Given the description of an element on the screen output the (x, y) to click on. 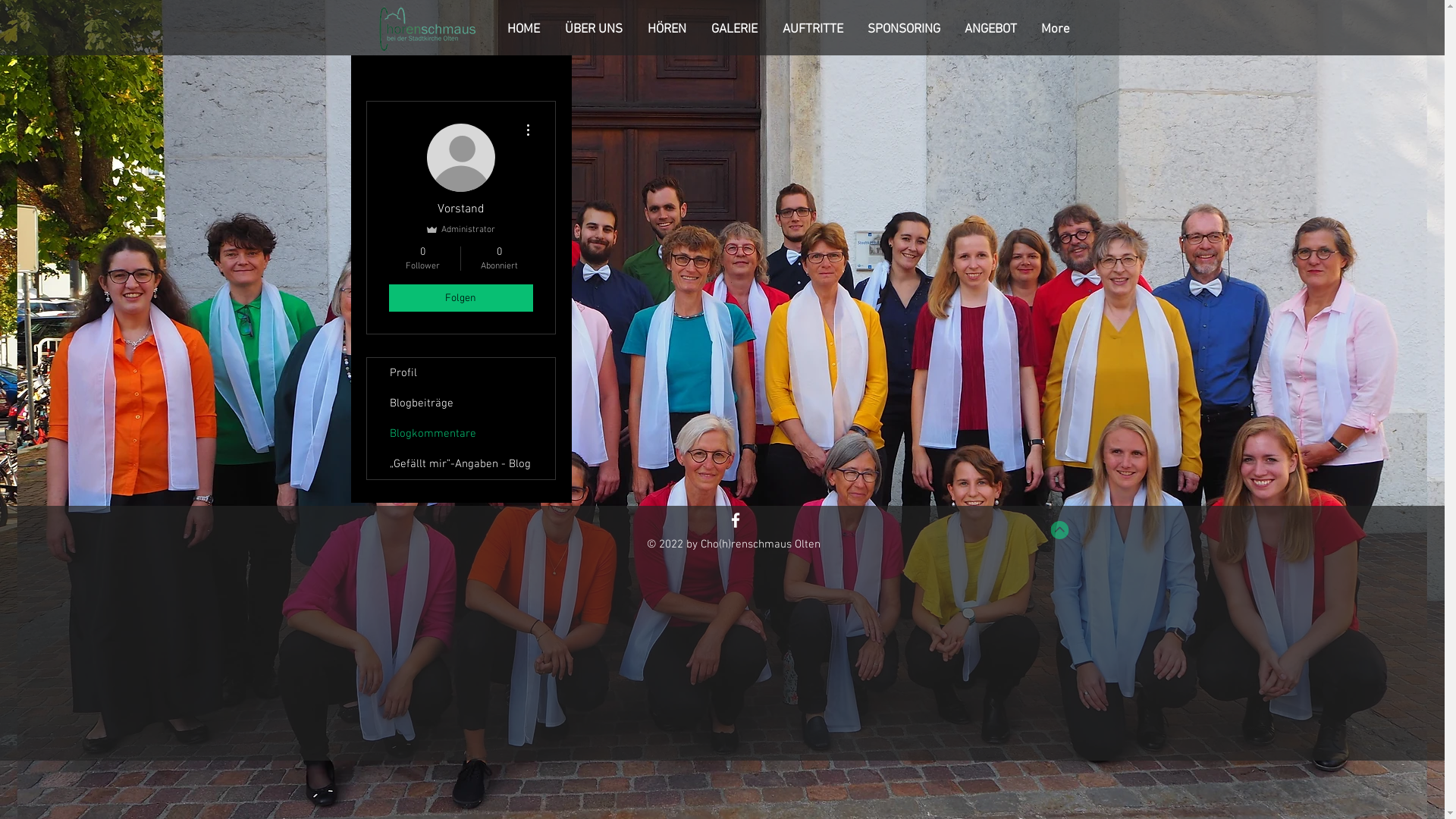
SPONSORING Element type: text (906, 29)
Profil Element type: text (461, 372)
GALERIE Element type: text (737, 29)
0
Follower Element type: text (421, 258)
ANGEBOT Element type: text (993, 29)
Folgen Element type: text (460, 297)
HOME Element type: text (526, 29)
Blogkommentare Element type: text (461, 433)
0
Abonniert Element type: text (499, 258)
AUFTRITTE Element type: text (815, 29)
